Given the description of an element on the screen output the (x, y) to click on. 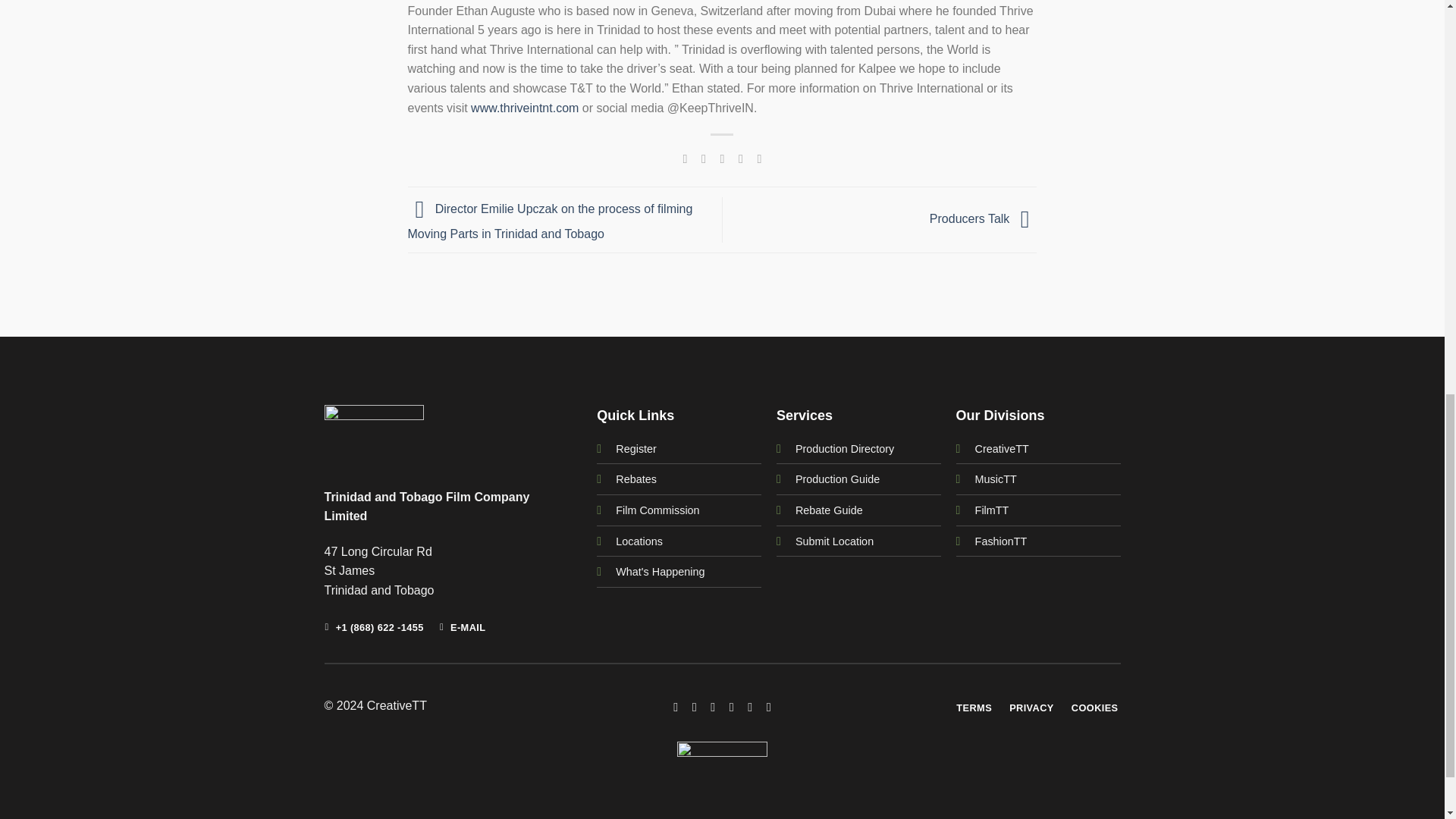
Pin on Pinterest (740, 158)
Email to a Friend (722, 158)
Share on Twitter (703, 158)
Share on Facebook (684, 158)
